Given the description of an element on the screen output the (x, y) to click on. 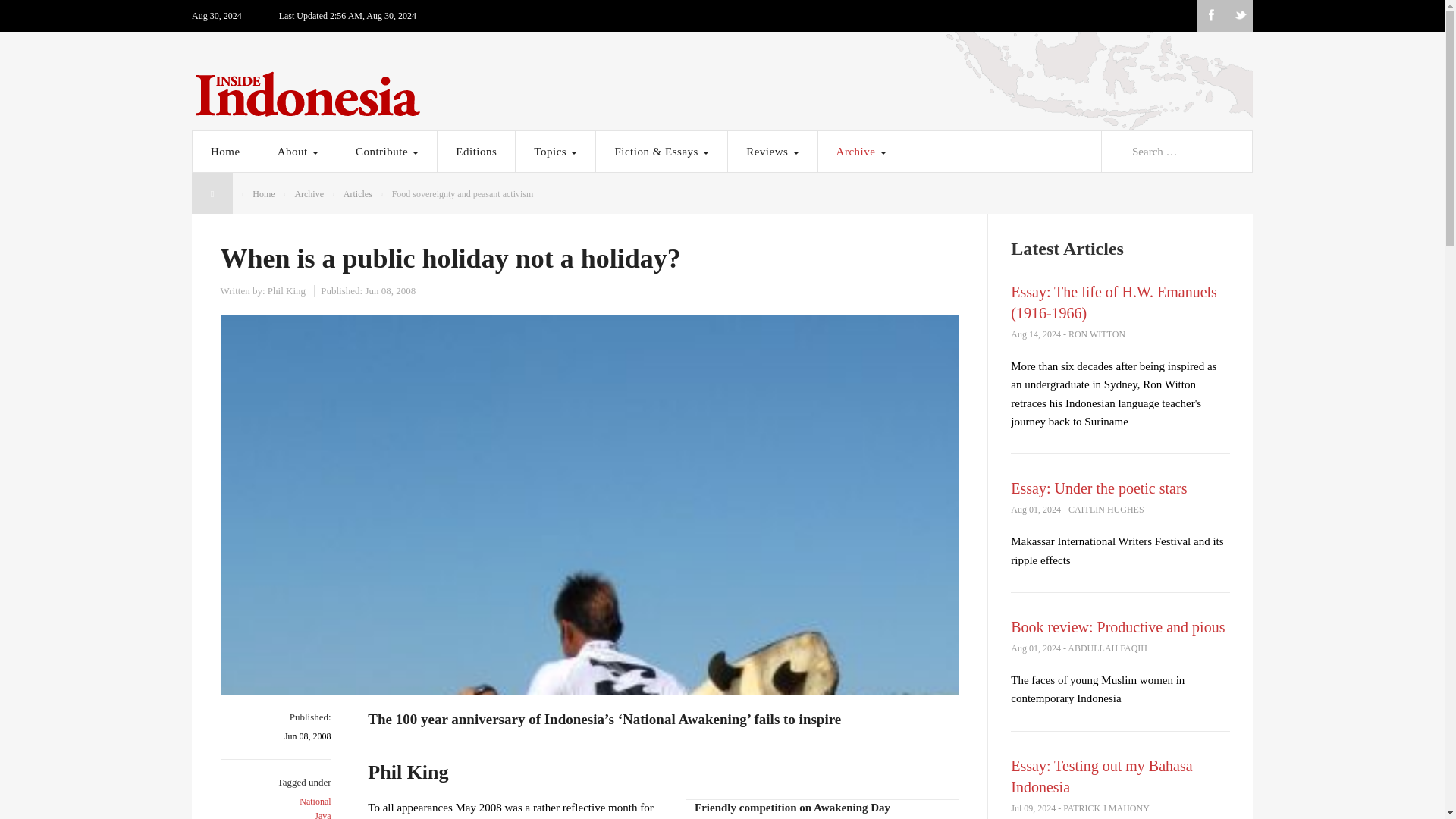
Essay: Under the poetic stars (1098, 487)
About (297, 151)
Inside Indonesia (722, 90)
Essay: Testing out my Bahasa Indonesia (1101, 776)
Book review: Productive and pious (1117, 627)
Home (225, 151)
